Given the description of an element on the screen output the (x, y) to click on. 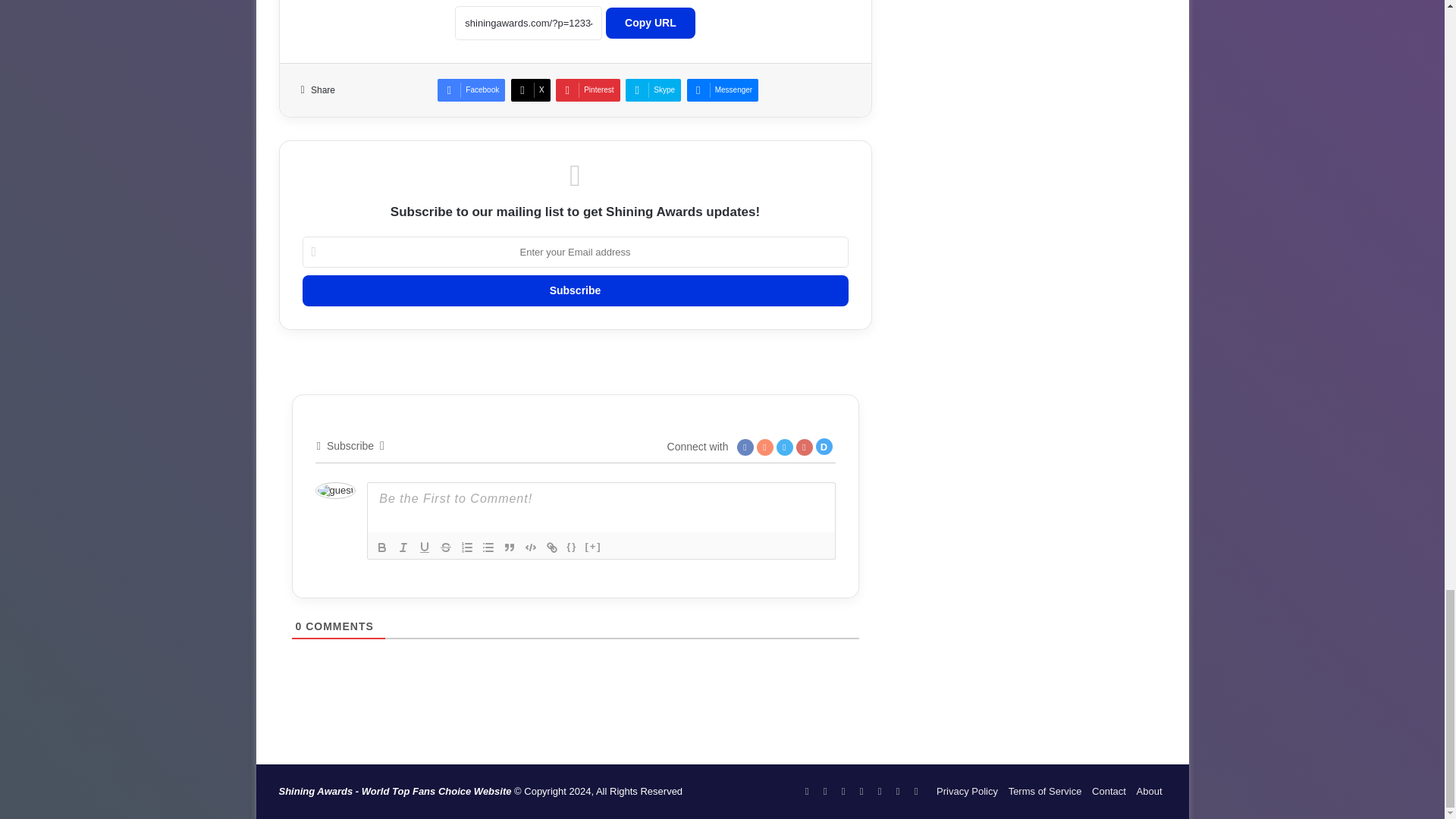
Pinterest (588, 89)
Messenger (722, 89)
Skype (653, 89)
Pinterest (588, 89)
Bold (382, 547)
bullet (488, 547)
Subscribe (574, 290)
ordered (467, 547)
Underline (424, 547)
Copy URL (650, 22)
